Given the description of an element on the screen output the (x, y) to click on. 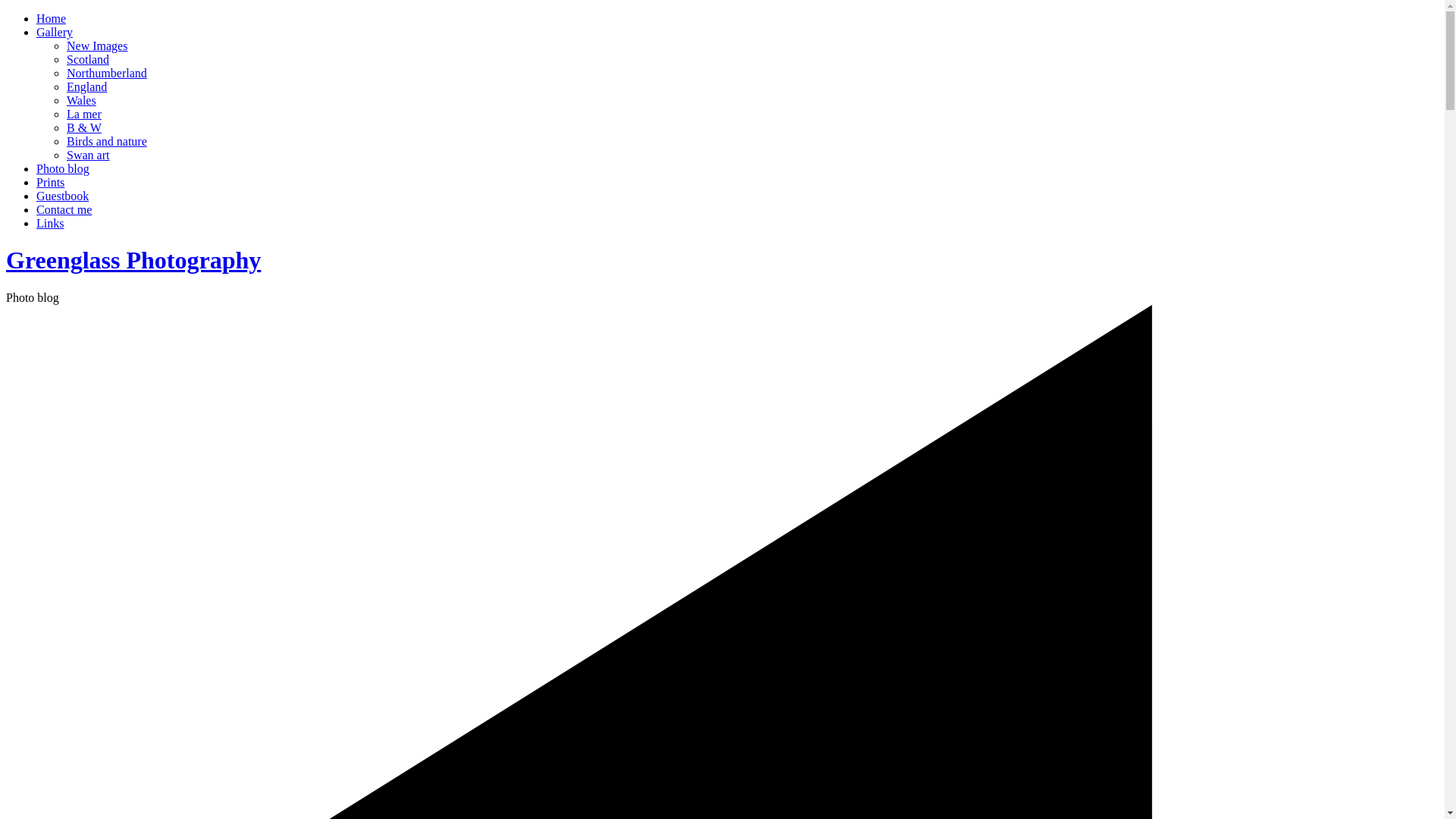
Birds and nature (106, 141)
Photo blog (62, 168)
Gallery (54, 31)
Northumberland (106, 72)
Prints (50, 182)
Contact me (63, 209)
England (86, 86)
New Images (97, 45)
Links (50, 223)
Swan art (87, 154)
Guestbook (62, 195)
Scotland (87, 59)
Home (50, 18)
Wales (81, 100)
La mer (83, 113)
